Given the description of an element on the screen output the (x, y) to click on. 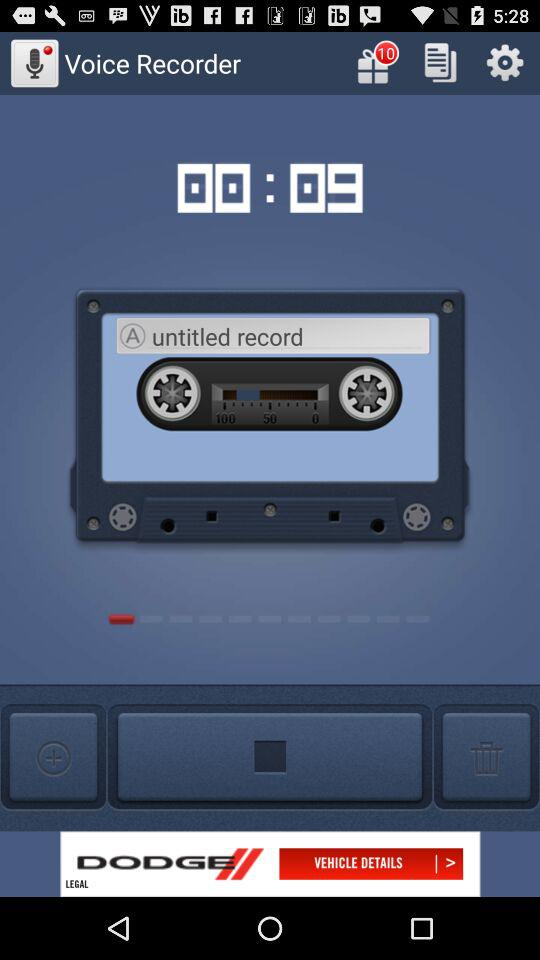
stop (269, 757)
